Given the description of an element on the screen output the (x, y) to click on. 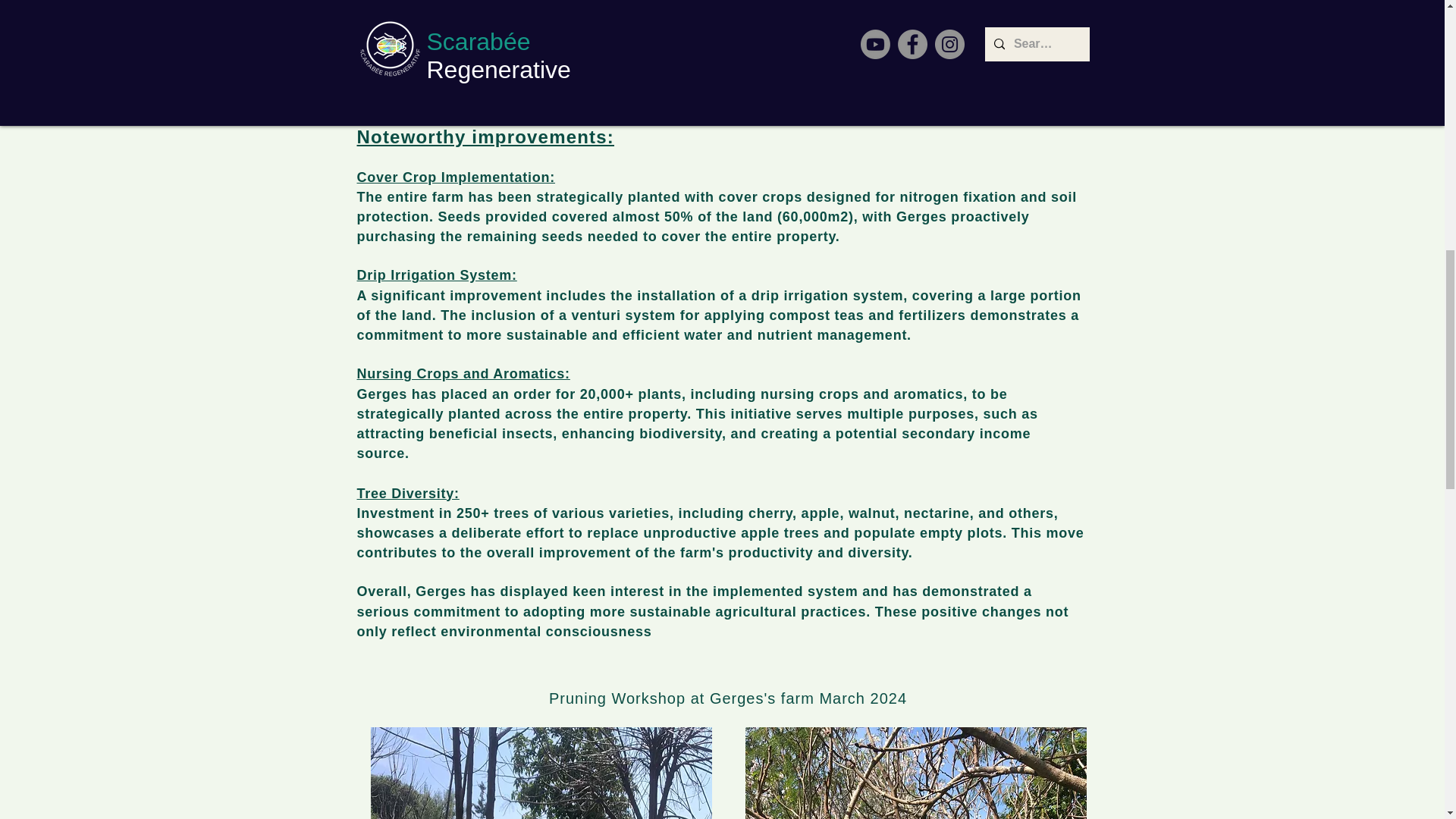
Cover Crop Implementation: (455, 177)
7618fc03-ac74-4faa-8907-868d3a5458c2.jpg (722, 40)
Noteworthy improvements: (485, 137)
